Given the description of an element on the screen output the (x, y) to click on. 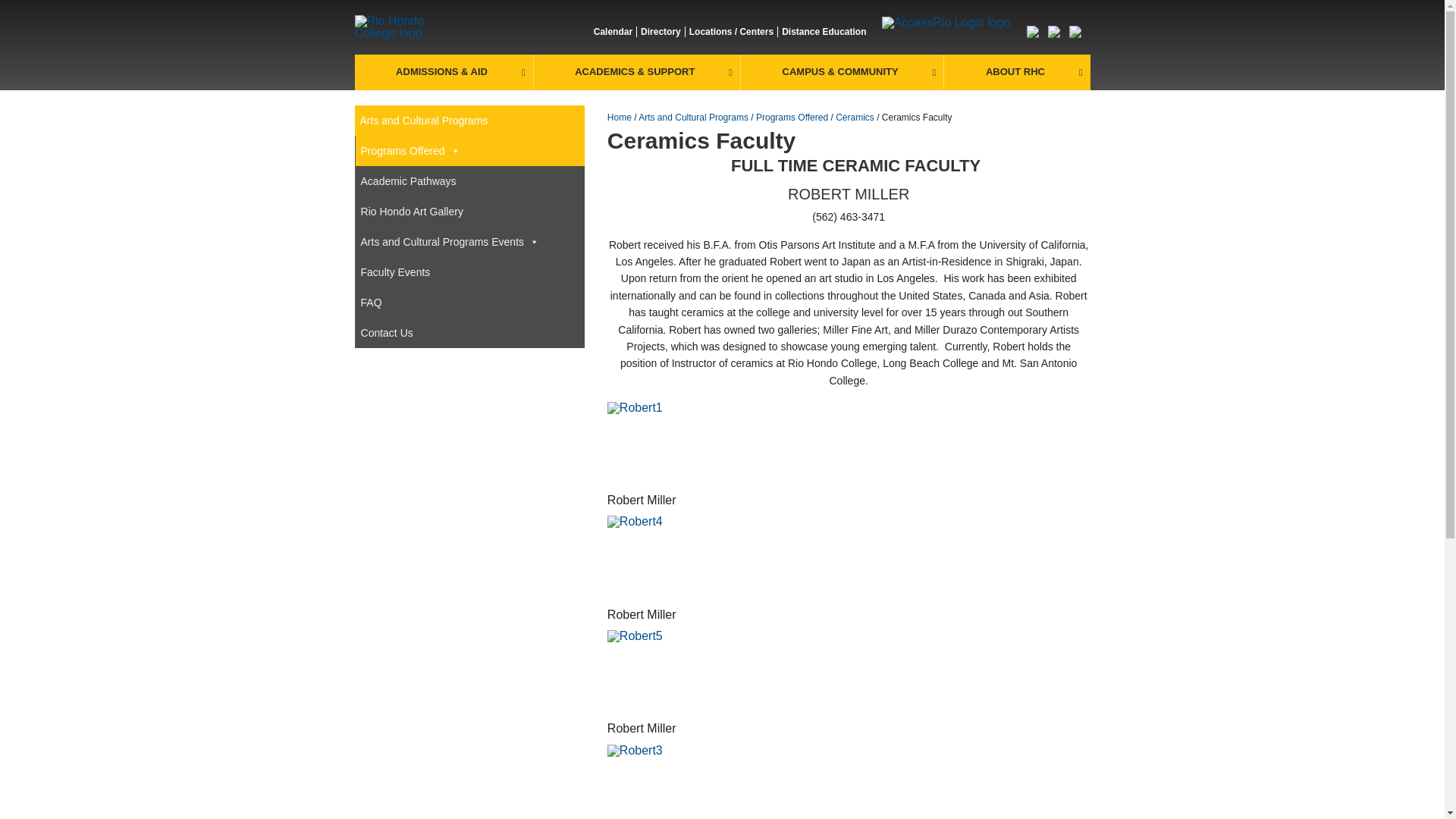
Distance Education (823, 31)
Robert Miller ceramics4 (647, 669)
Robert Miller Ceramics2 (647, 441)
Online Courses at Rio Hondo College (823, 31)
Click to login to Canvas (1035, 33)
View Campus Calendar (613, 31)
Click to view our Bookstore (1077, 33)
Robert Miller ceramics3 (647, 555)
Robert Miller ceramics5 (647, 780)
Arts Division (400, 25)
